Given the description of an element on the screen output the (x, y) to click on. 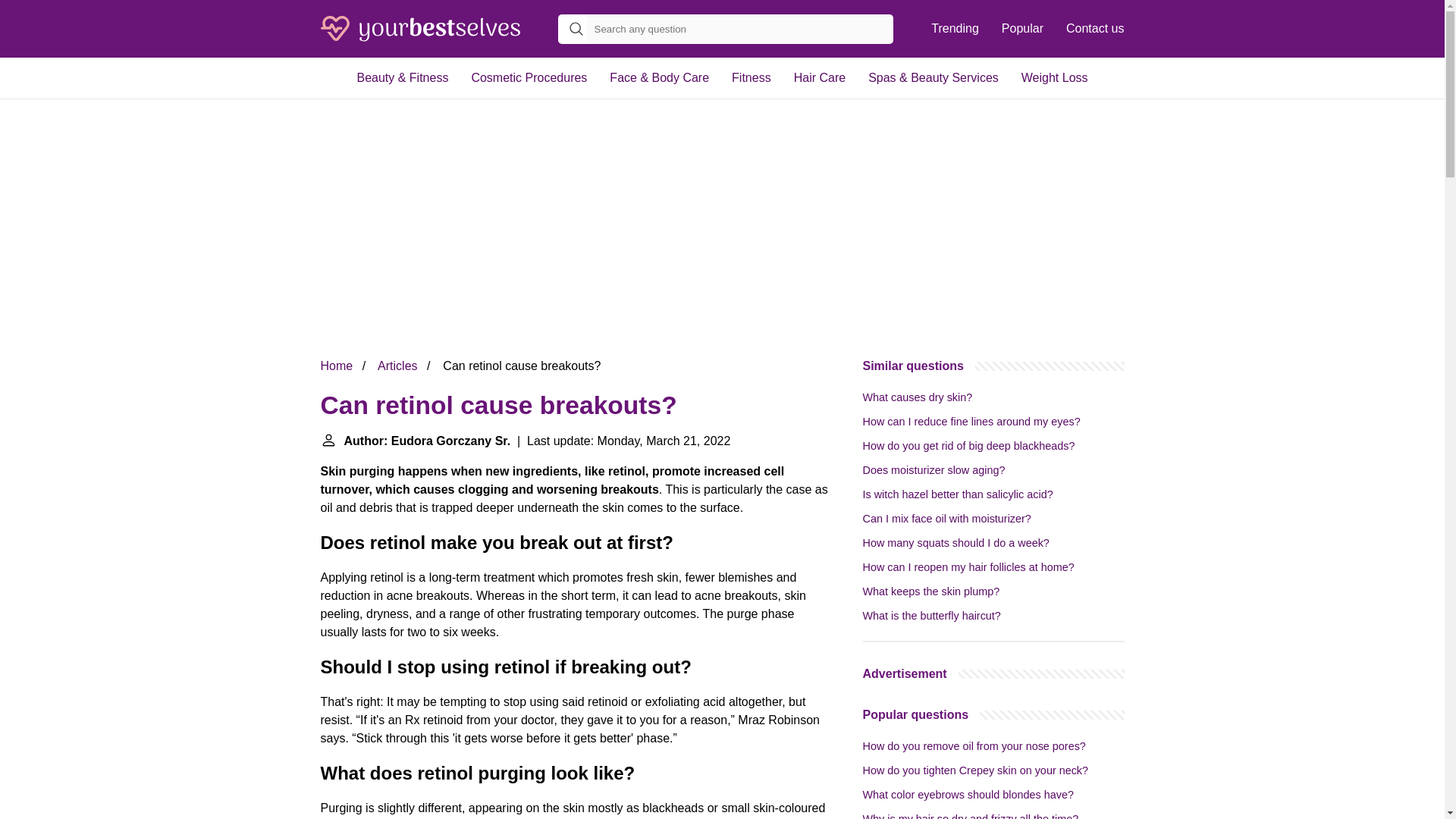
Home (336, 365)
Hair Care (820, 77)
Fitness (751, 77)
Contact us (1094, 28)
How can I reduce fine lines around my eyes? (971, 421)
Can I mix face oil with moisturizer? (946, 518)
What color eyebrows should blondes have? (968, 794)
How many squats should I do a week? (956, 542)
What causes dry skin? (917, 397)
Articles (396, 365)
